Given the description of an element on the screen output the (x, y) to click on. 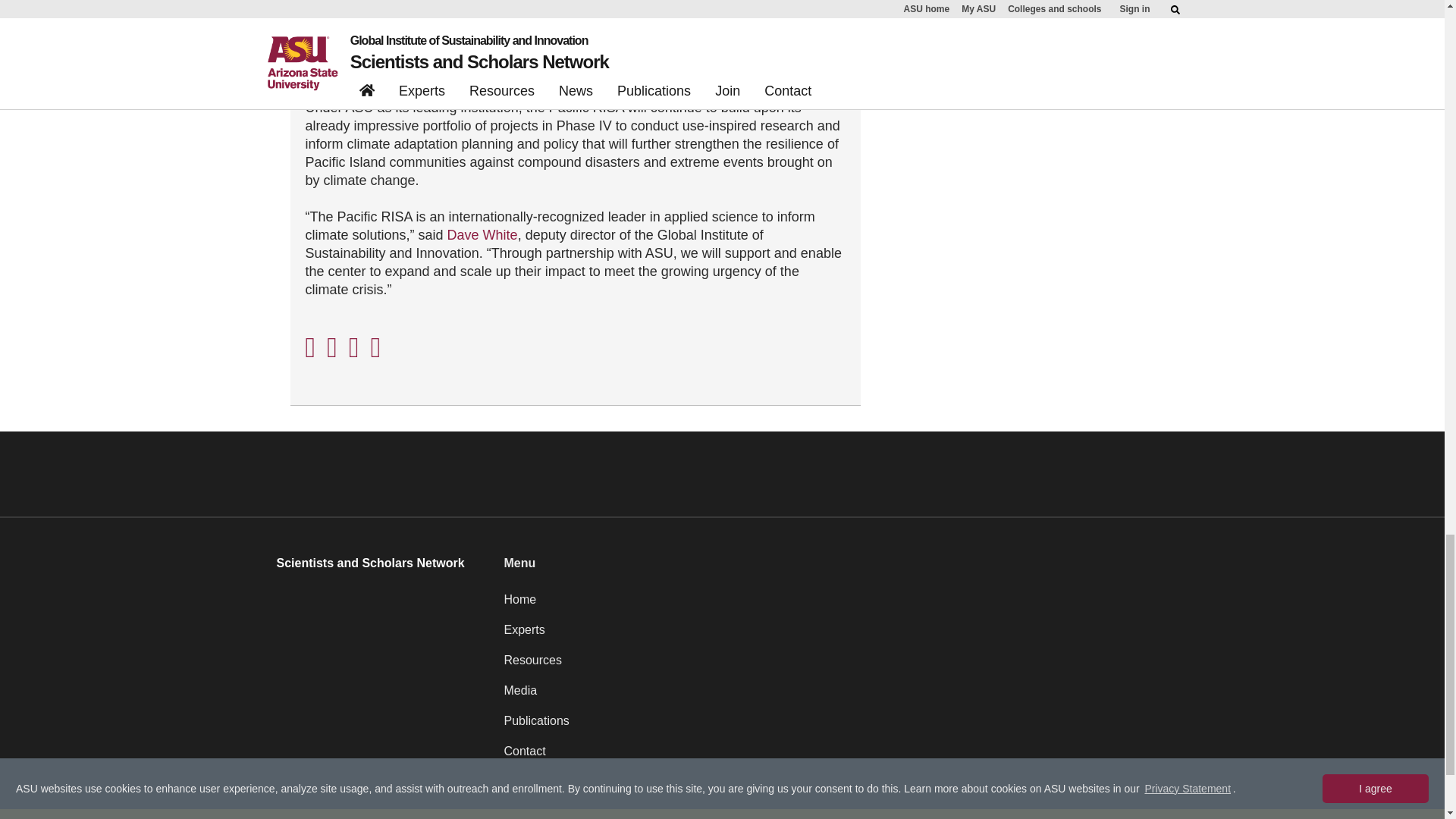
Experts (835, 635)
Contact (835, 757)
Resources (835, 666)
Dave White (482, 234)
Home (835, 605)
Publications (835, 726)
Media (835, 696)
